Given the description of an element on the screen output the (x, y) to click on. 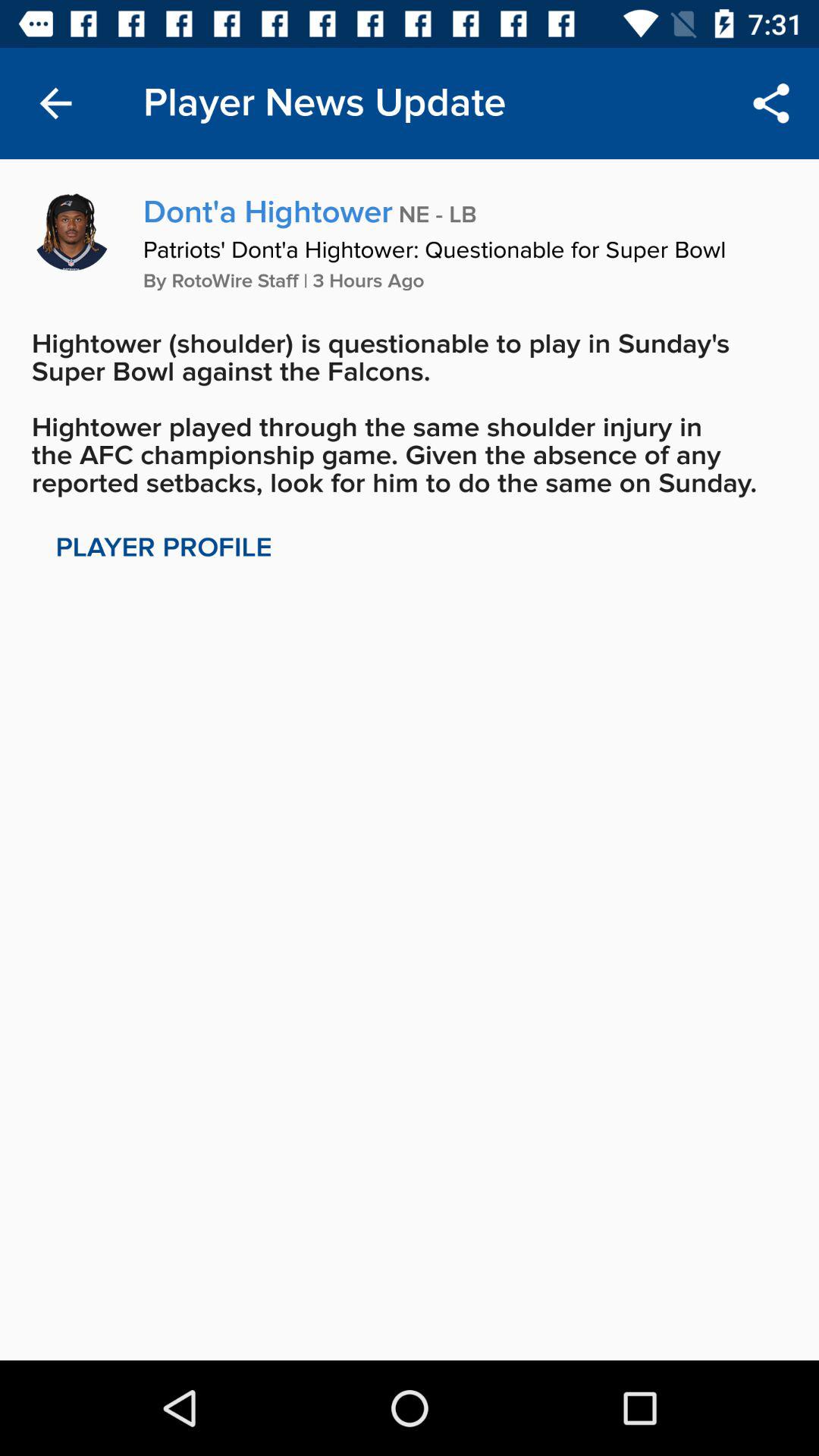
select the item to the left of the player news update (55, 103)
